Given the description of an element on the screen output the (x, y) to click on. 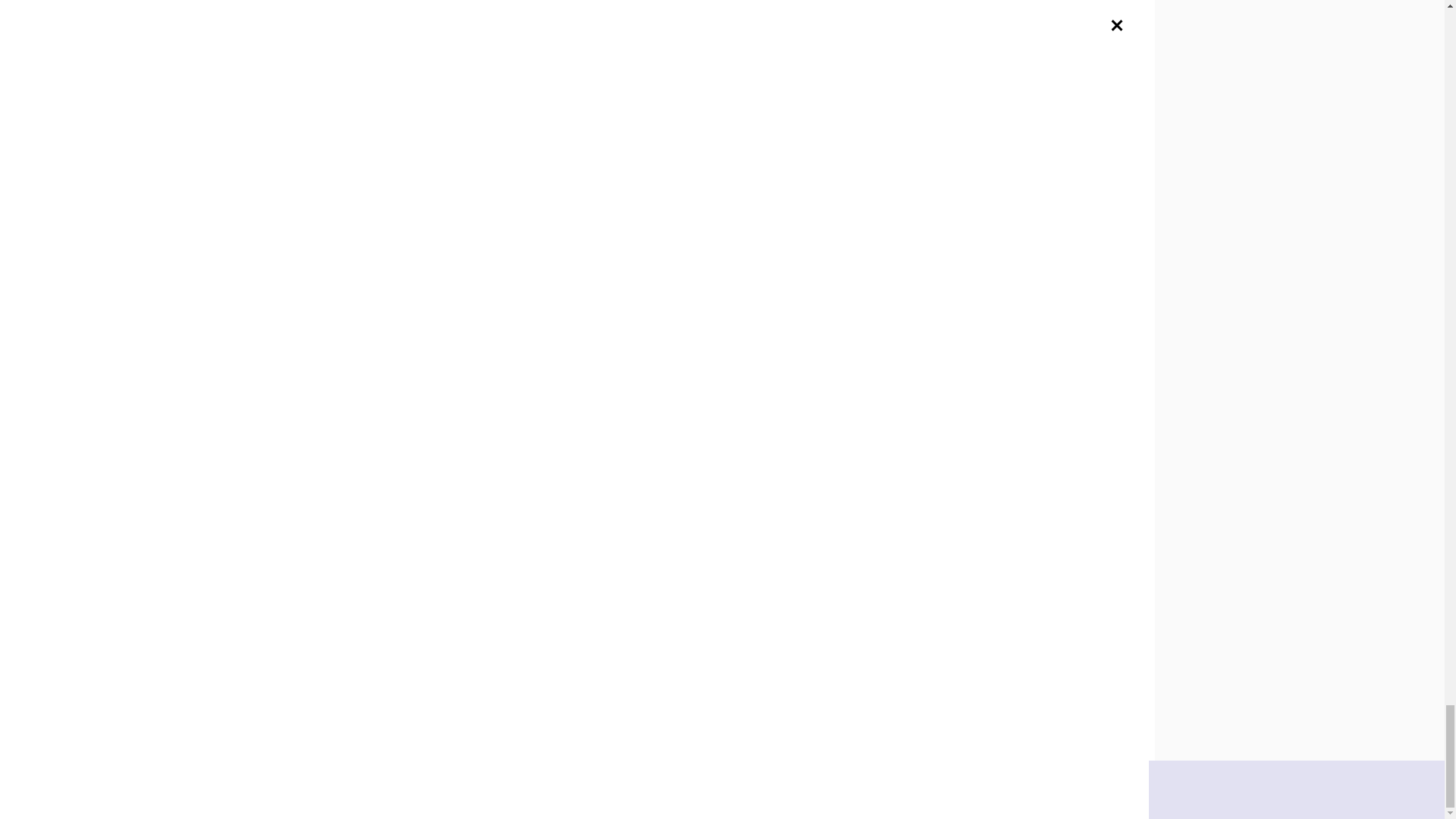
Posts by jodi stewart (370, 102)
Posts by jodi stewart (586, 229)
